Given the description of an element on the screen output the (x, y) to click on. 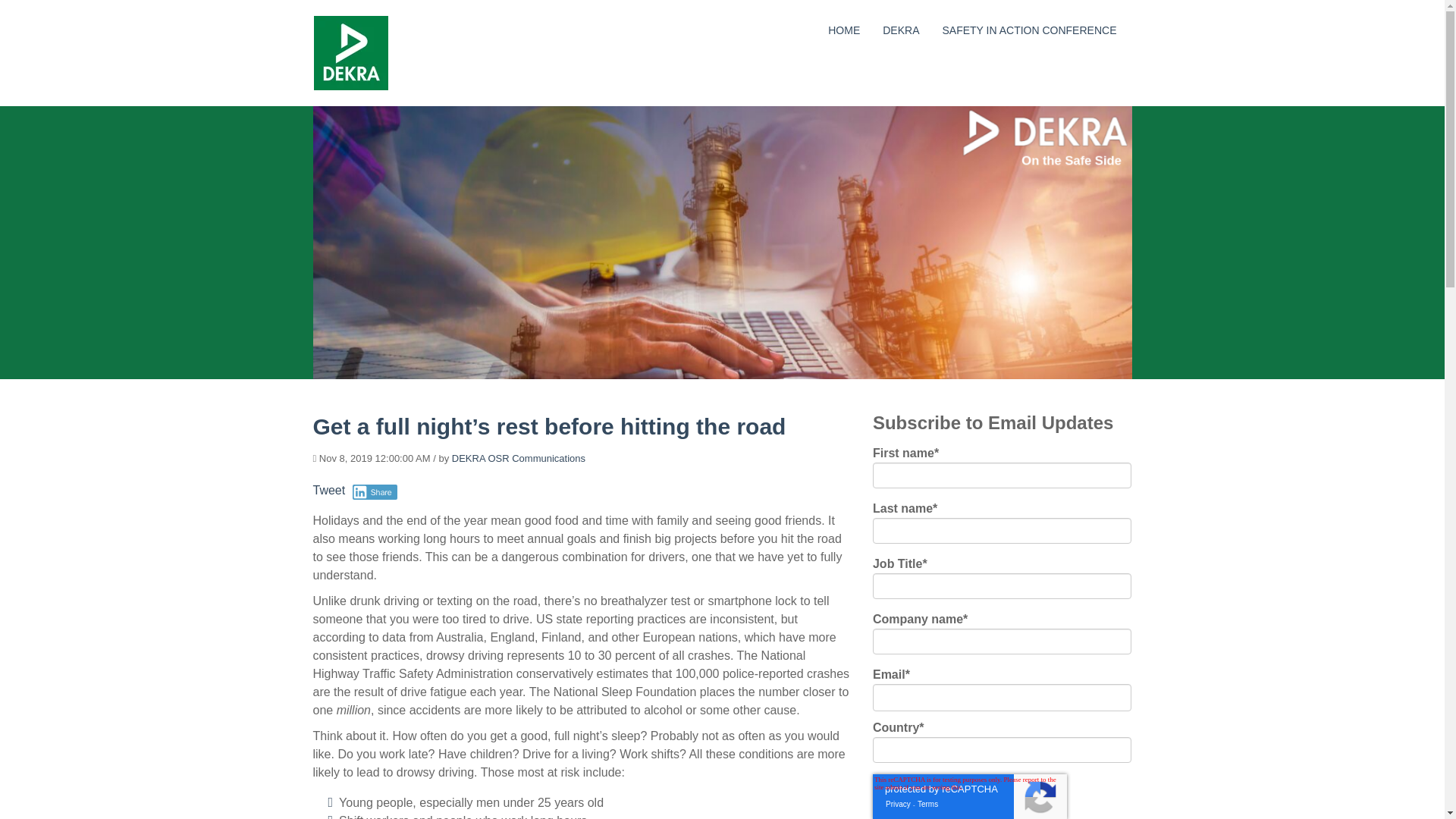
DEKRA (900, 30)
reCAPTCHA (969, 796)
Tweet (329, 490)
SAFETY IN ACTION CONFERENCE (1029, 30)
Primary DEKRA logo (350, 52)
Share (374, 491)
HOME (844, 30)
DEKRA OSR Communications (518, 458)
